Given the description of an element on the screen output the (x, y) to click on. 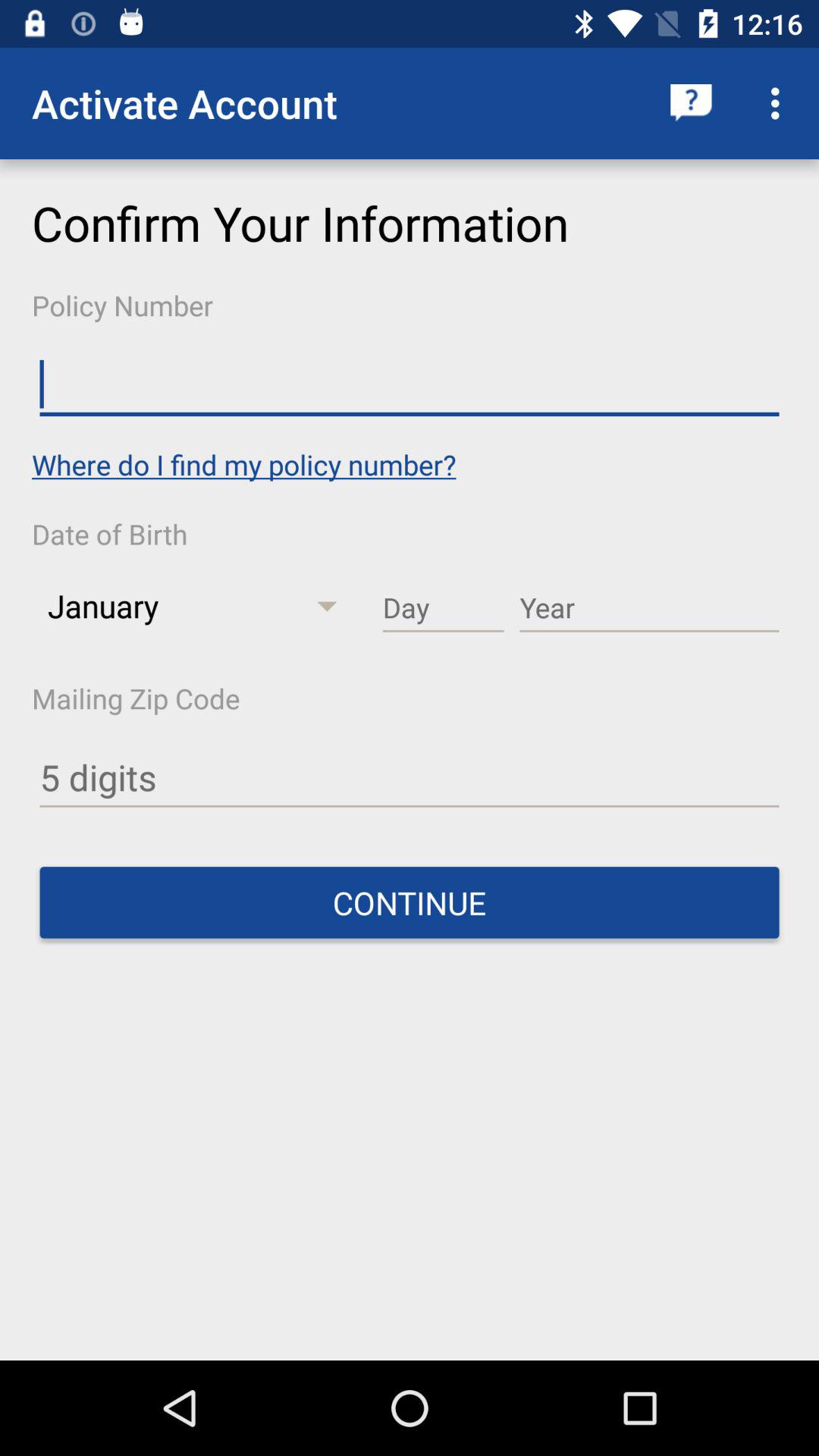
enter year (649, 607)
